Given the description of an element on the screen output the (x, y) to click on. 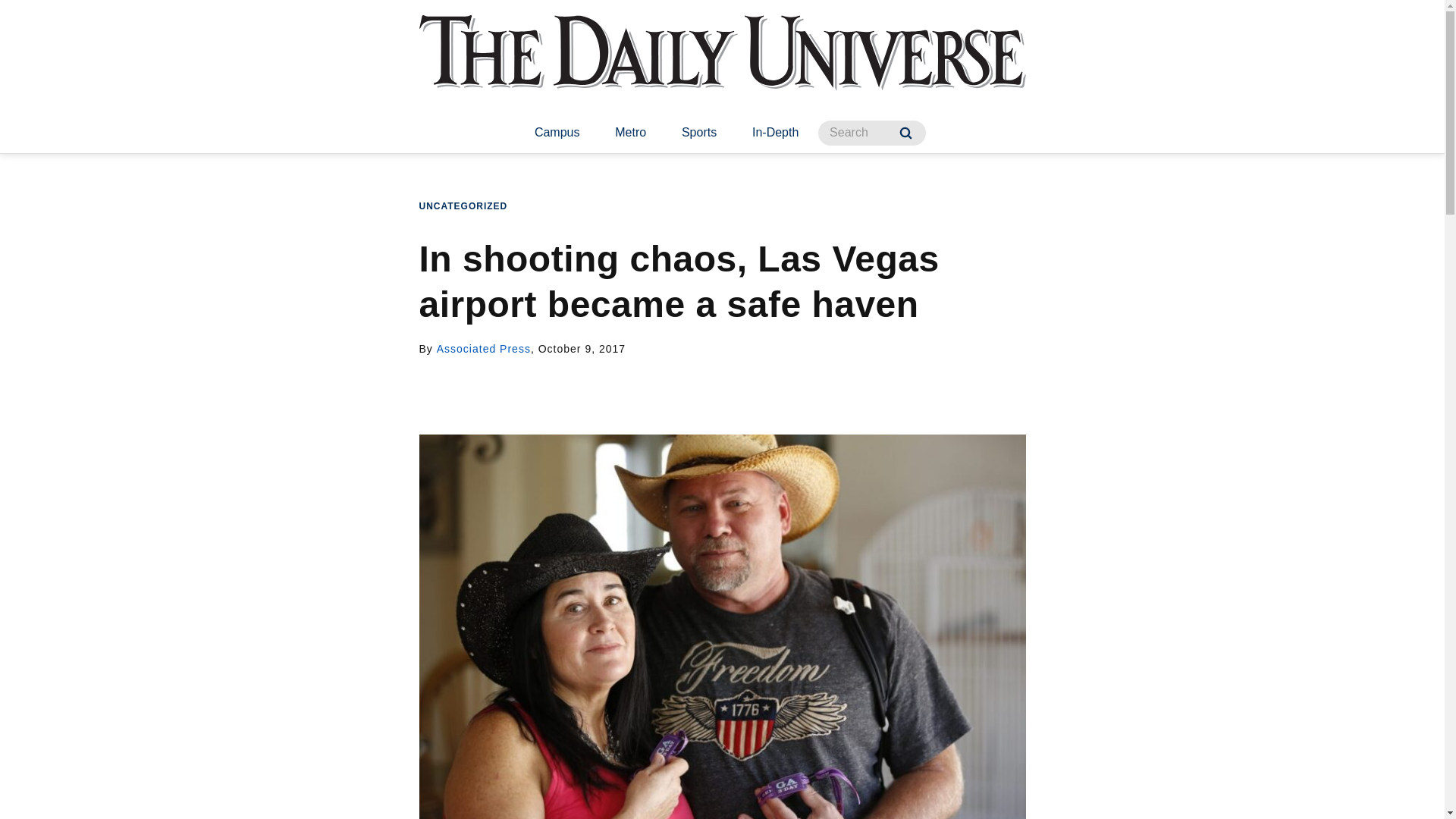
Campus (557, 133)
UNCATEGORIZED (462, 206)
Metro (630, 133)
In-Depth (775, 133)
Associated Press (483, 348)
Search (905, 132)
Sports (699, 133)
